Given the description of an element on the screen output the (x, y) to click on. 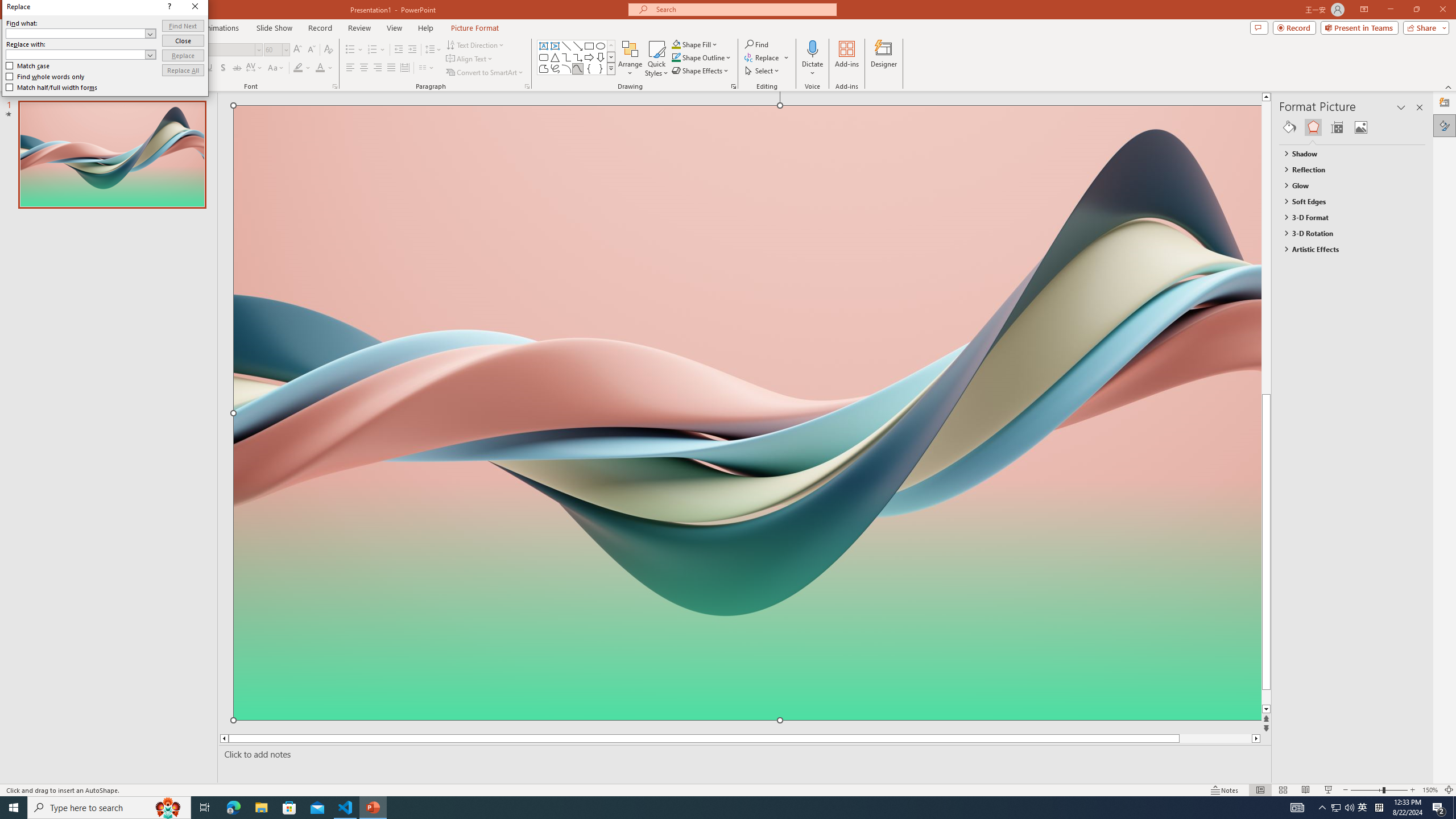
3-D Format (1347, 217)
Microsoft Edge (233, 807)
